Given the description of an element on the screen output the (x, y) to click on. 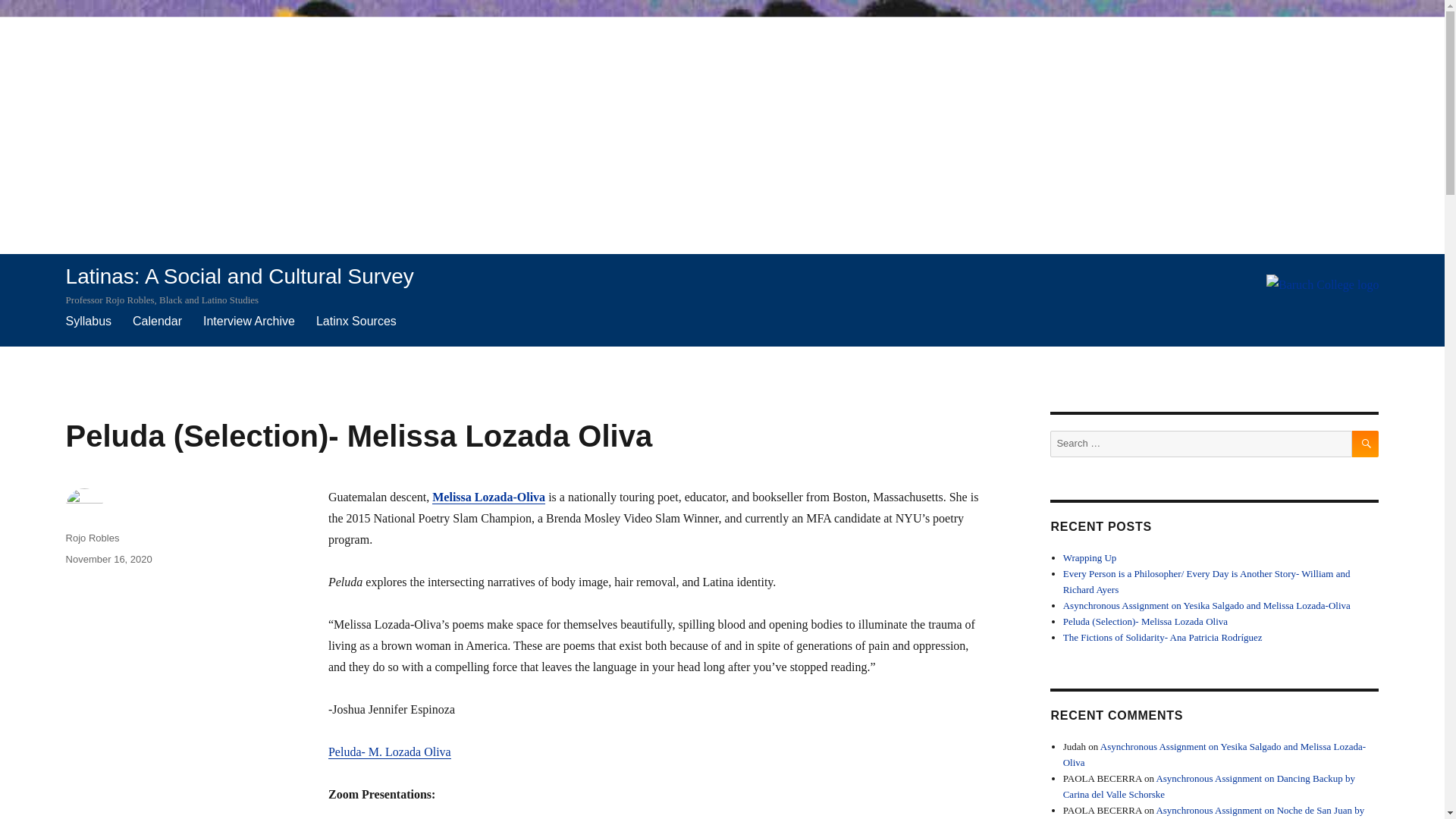
Melissa Lozada-Oliva (488, 496)
Syllabus (88, 321)
Wrapping Up (1089, 557)
Interview Archive (248, 321)
Peluda- M. Lozada Oliva (390, 751)
Latinx Sources (356, 321)
Calendar (157, 321)
SEARCH (1365, 443)
Rojo Robles (92, 537)
November 16, 2020 (108, 559)
Latinas: A Social and Cultural Survey (239, 276)
